Given the description of an element on the screen output the (x, y) to click on. 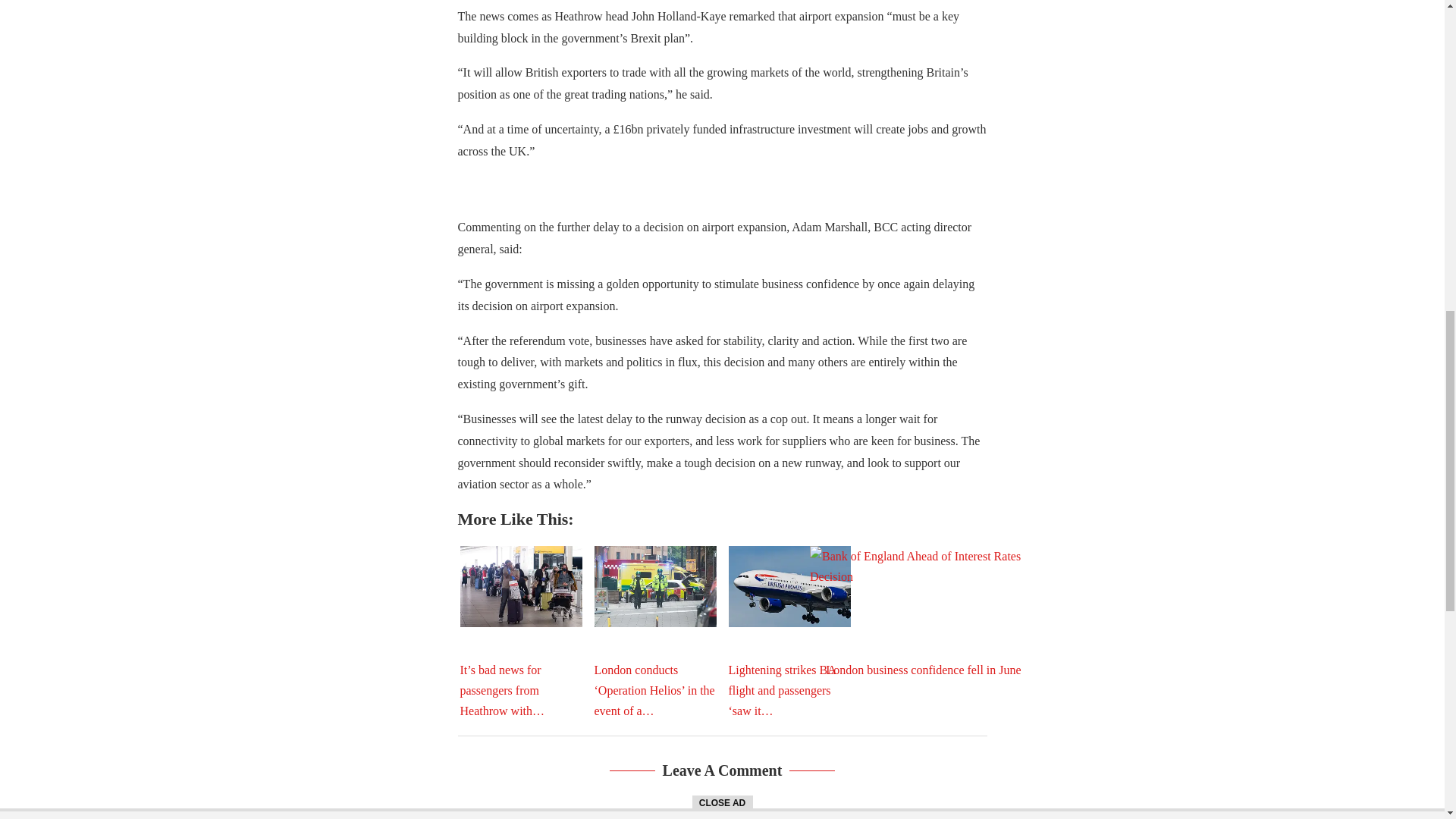
London business confidence fell in June (922, 621)
